Given the description of an element on the screen output the (x, y) to click on. 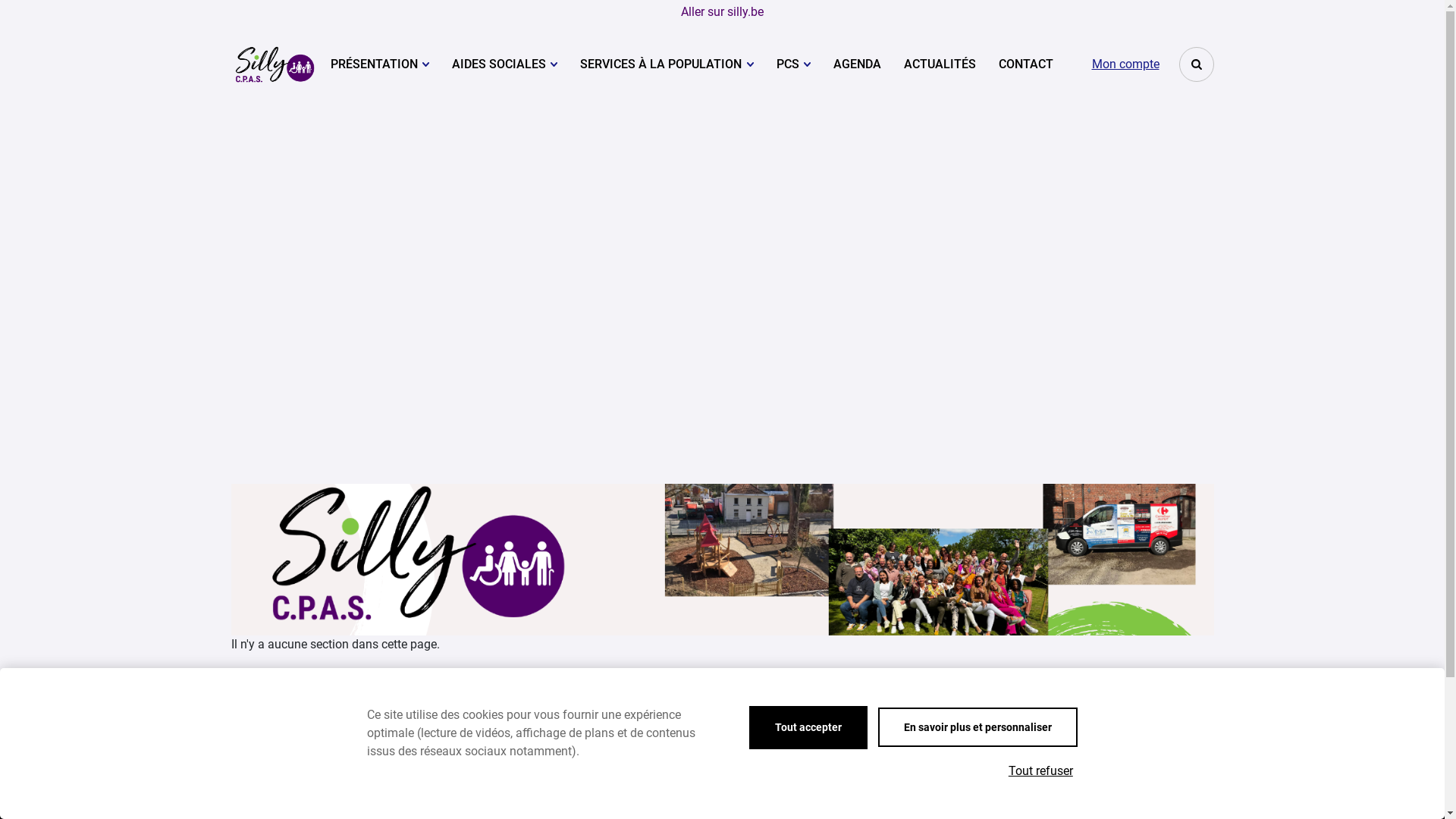
CONTACT Element type: text (1025, 64)
AIDES SOCIALES Element type: text (504, 64)
PCS Element type: text (793, 64)
Aller sur silly.be Element type: text (721, 11)
Mon compte Element type: text (1125, 63)
CPAS Element type: hover (273, 64)
CPAS Element type: hover (273, 64)
En savoir plus et personnaliser Element type: text (977, 726)
AGENDA Element type: text (857, 64)
Tout accepter Element type: text (808, 727)
Tout refuser Element type: text (1040, 771)
Rechercher Element type: text (1195, 64)
